Given the description of an element on the screen output the (x, y) to click on. 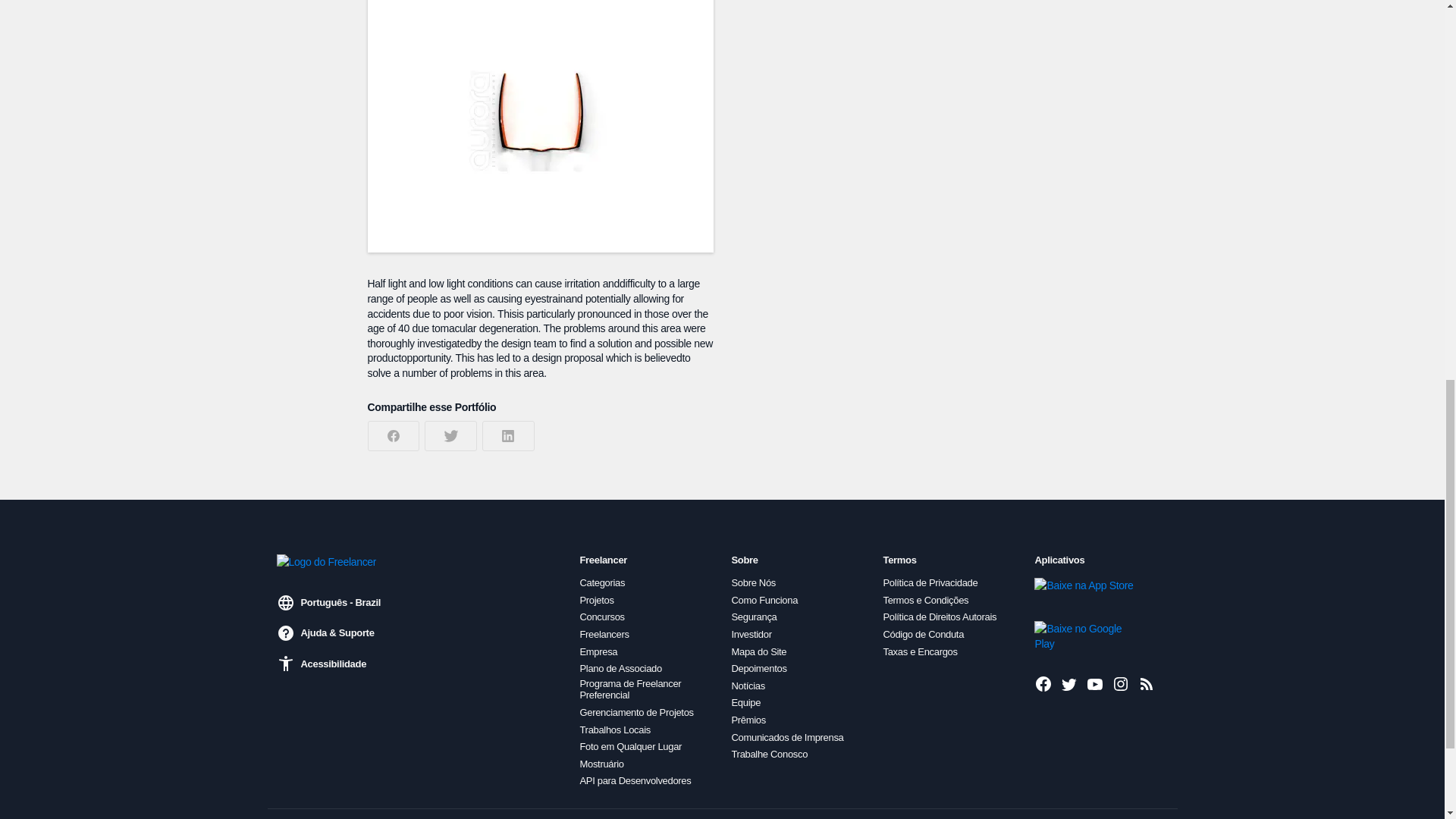
Compartilhe no LinkedIn (507, 435)
Baixar da App Store (1085, 593)
Depoimentos (758, 668)
Trabalhos Locais (614, 729)
Mapa do Site (758, 652)
Freelancer no Facebook (1042, 683)
Freelancers (603, 634)
Obter no Google Play (1085, 635)
Freelancer no Twitter (1068, 683)
Investidor (750, 634)
Gerenciamento de Projetos (636, 712)
Programa de Freelancer Preferencial (646, 689)
Freelancer no Youtube (1094, 683)
Empresa (598, 652)
Freelancer no Instagram (1120, 683)
